Given the description of an element on the screen output the (x, y) to click on. 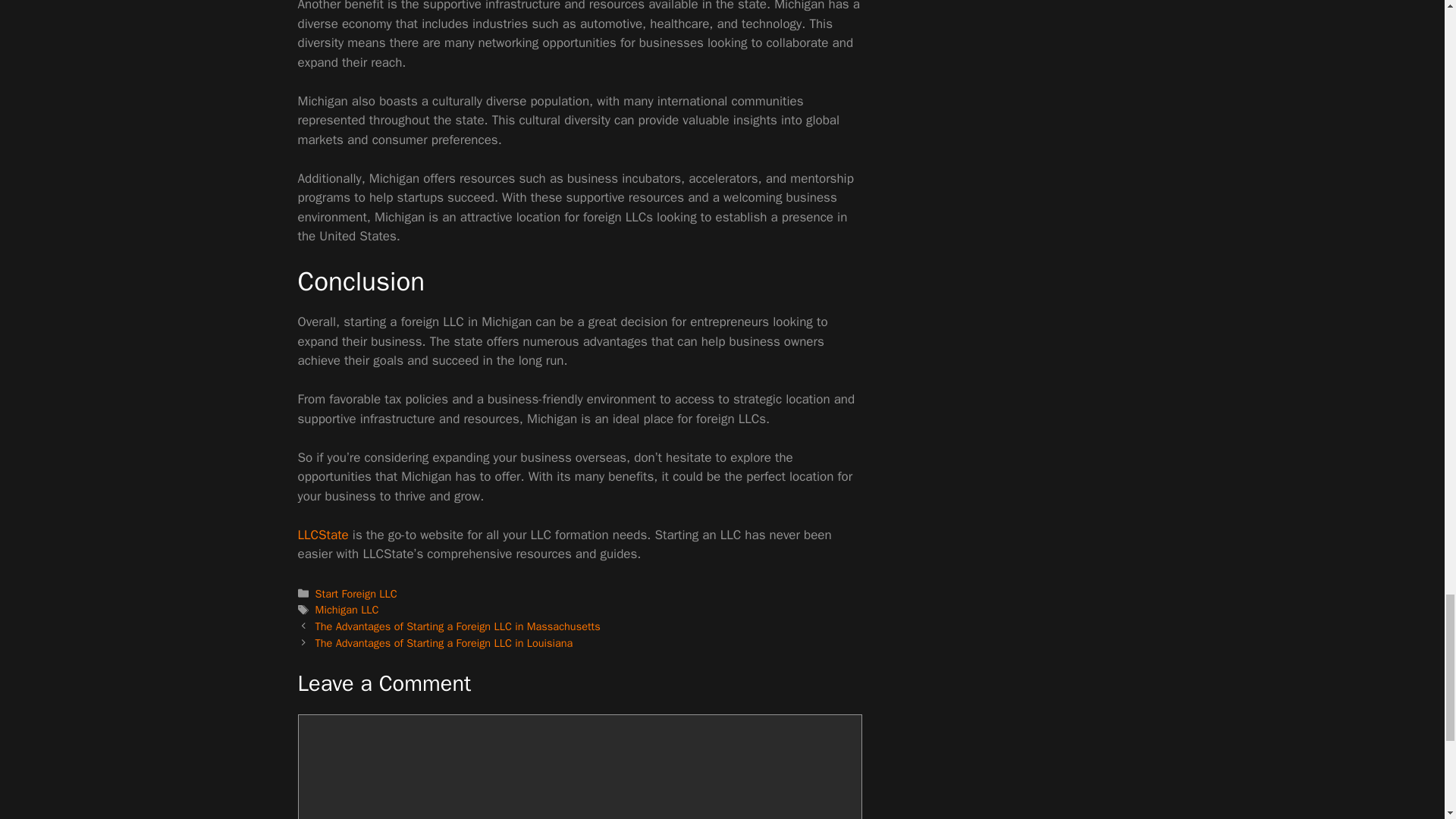
Michigan LLC (346, 609)
LLCState (322, 534)
LLCState (322, 534)
The Advantages of Starting a Foreign LLC in Massachusetts (457, 626)
Start Foreign LLC (356, 593)
The Advantages of Starting a Foreign LLC in Louisiana (444, 643)
